Given the description of an element on the screen output the (x, y) to click on. 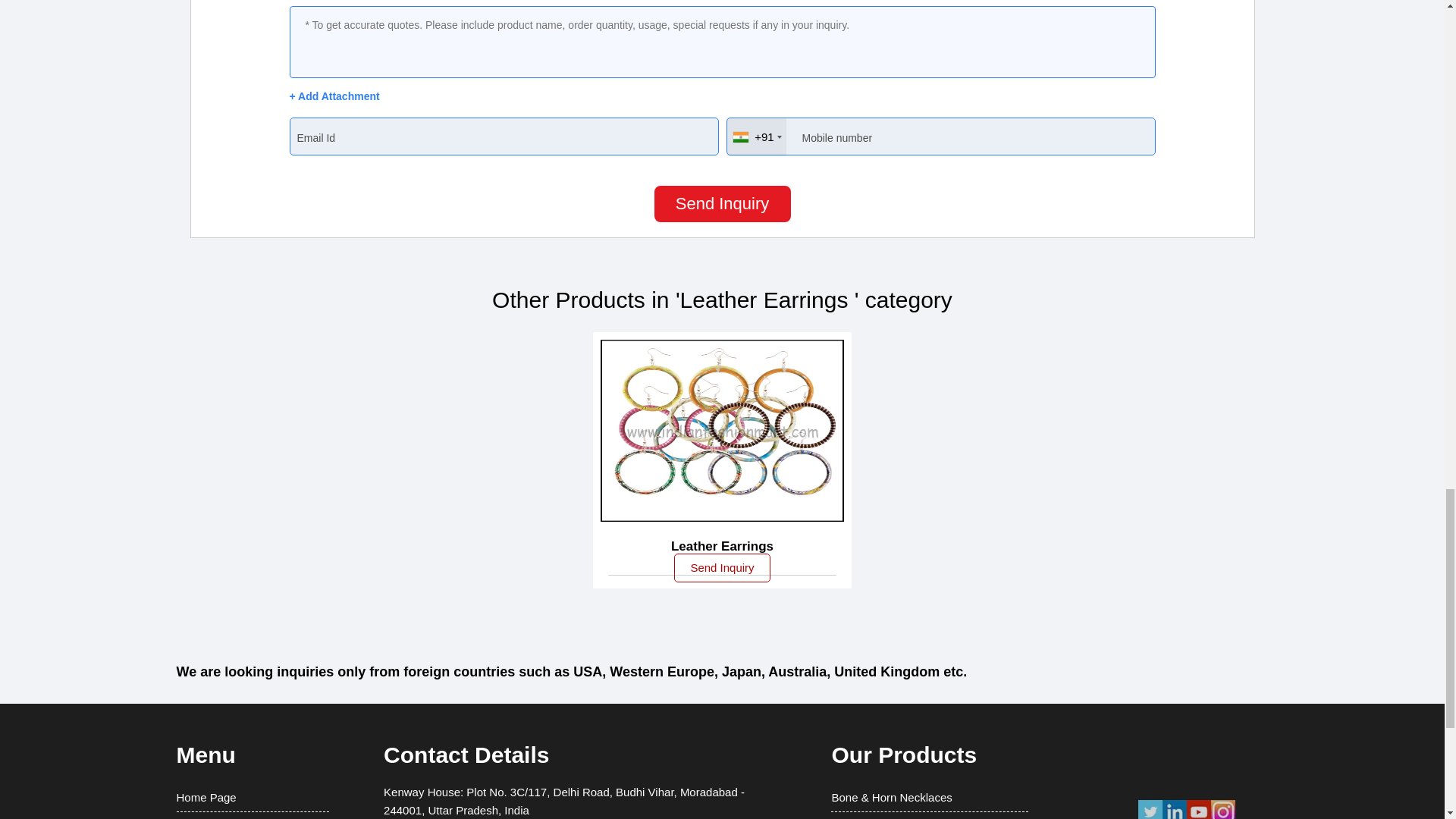
You Tube (1197, 818)
Instagram (1221, 818)
LinkedIn (1173, 818)
Send Inquiry (721, 203)
Twitter (1149, 818)
